Given the description of an element on the screen output the (x, y) to click on. 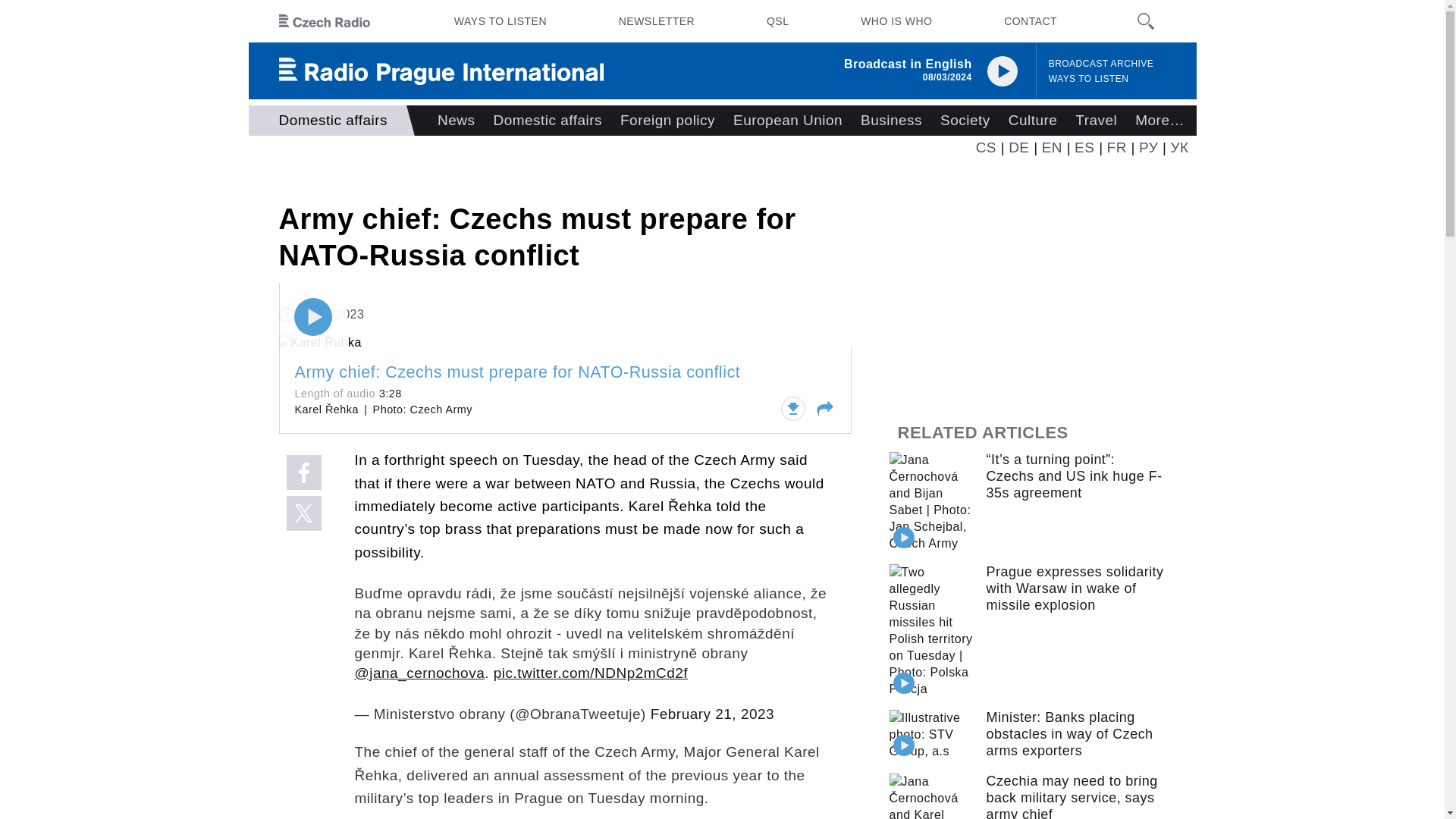
NEWSLETTER (656, 21)
QSL (777, 21)
WHO IS WHO (896, 21)
News (455, 120)
Culture (1032, 120)
BROADCAST ARCHIVE (1101, 63)
ES (1084, 147)
EN (1052, 147)
Broadcast in English  (908, 63)
Society (964, 120)
